Given the description of an element on the screen output the (x, y) to click on. 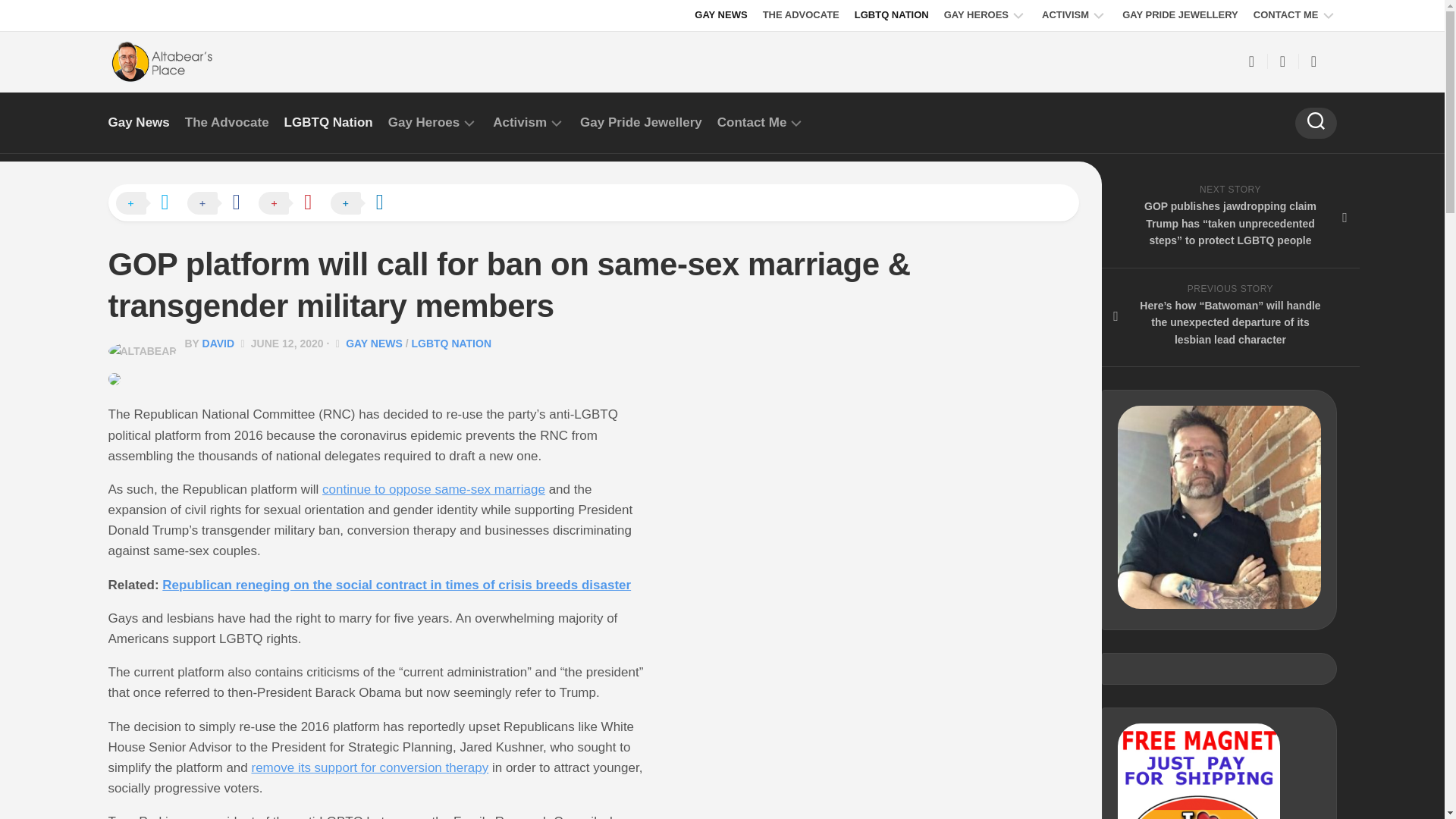
LGBTQ NATION (891, 14)
Twitter (1282, 61)
GAY PRIDE JEWELLERY (1180, 14)
GAY HEROES (976, 14)
GAY NEWS (720, 14)
Share on Pinterest (292, 203)
Share on X (149, 203)
Facebook (1251, 61)
CONTACT ME (1286, 14)
Share on Facebook (221, 203)
Instagram (1313, 61)
Posts by David (218, 343)
ACTIVISM (1065, 14)
Share on LinkedIn (364, 203)
THE ADVOCATE (801, 14)
